Given the description of an element on the screen output the (x, y) to click on. 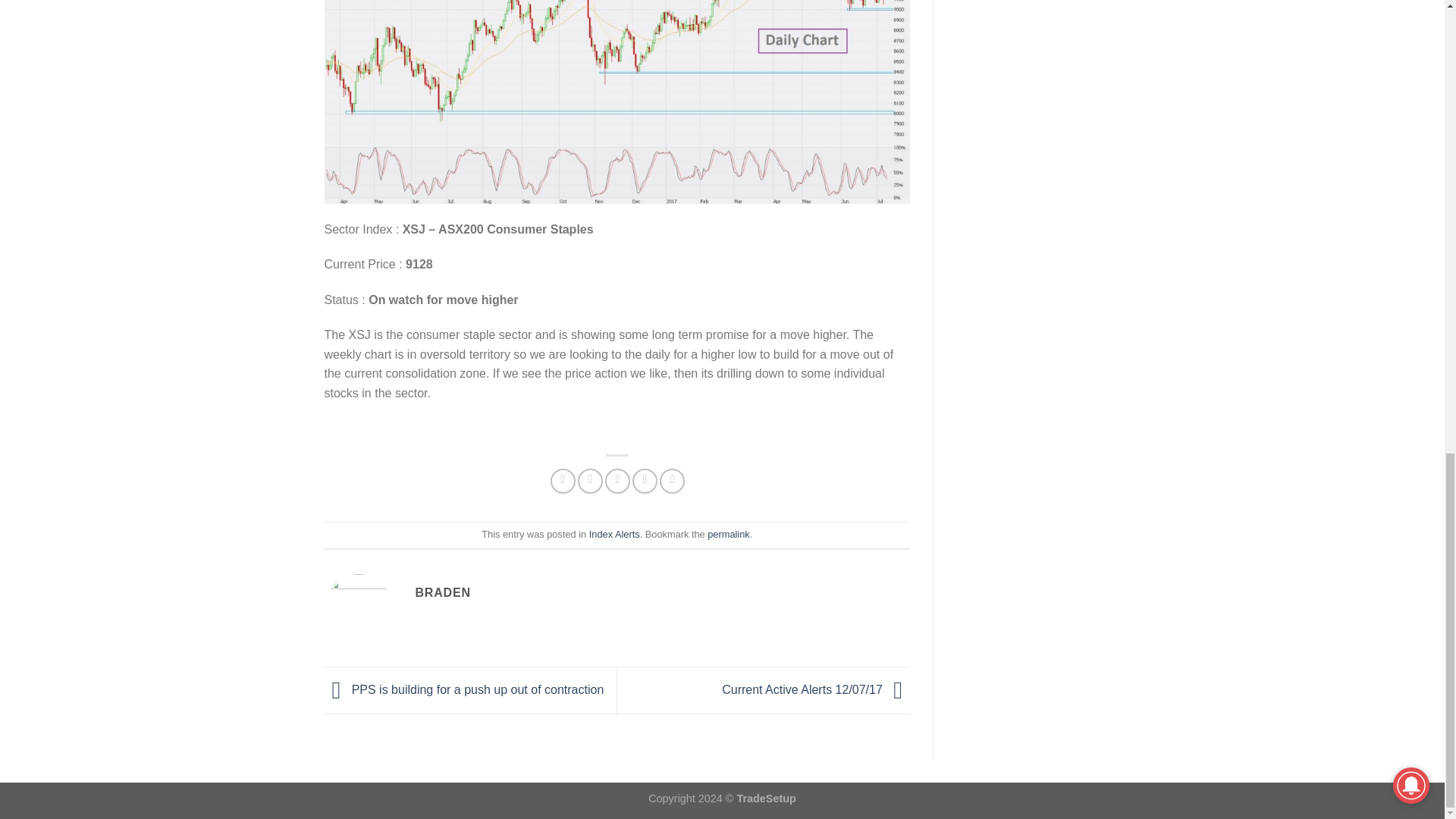
Index Alerts (614, 533)
permalink (728, 533)
PPS is building for a push up out of contraction (464, 689)
